Given the description of an element on the screen output the (x, y) to click on. 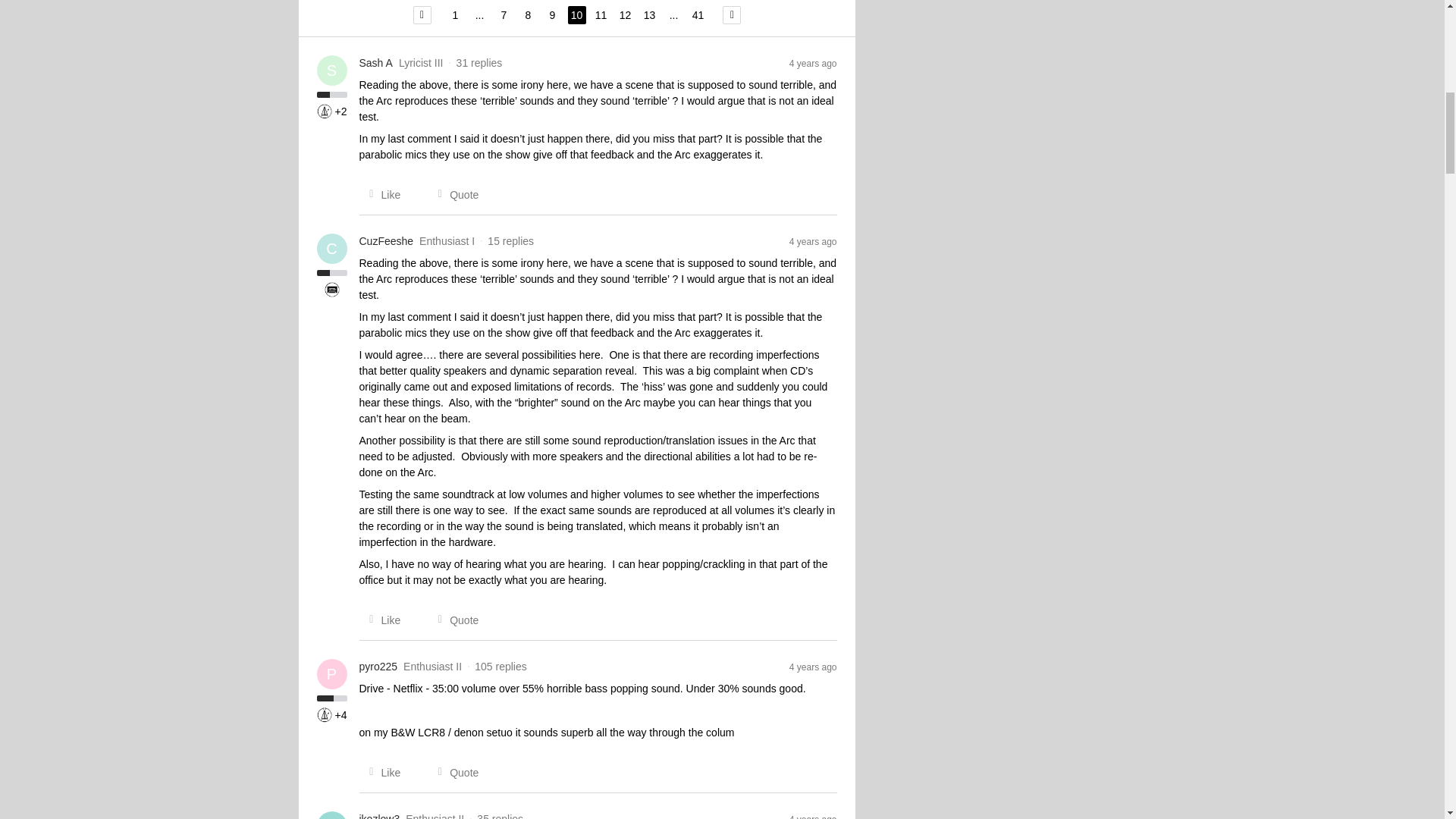
Sash A (376, 63)
On Tempo III (324, 714)
On Tempo I (324, 111)
jkozlow3 (379, 815)
Almost Famous (331, 289)
CuzFeeshe (386, 241)
pyro225 (378, 666)
